Given the description of an element on the screen output the (x, y) to click on. 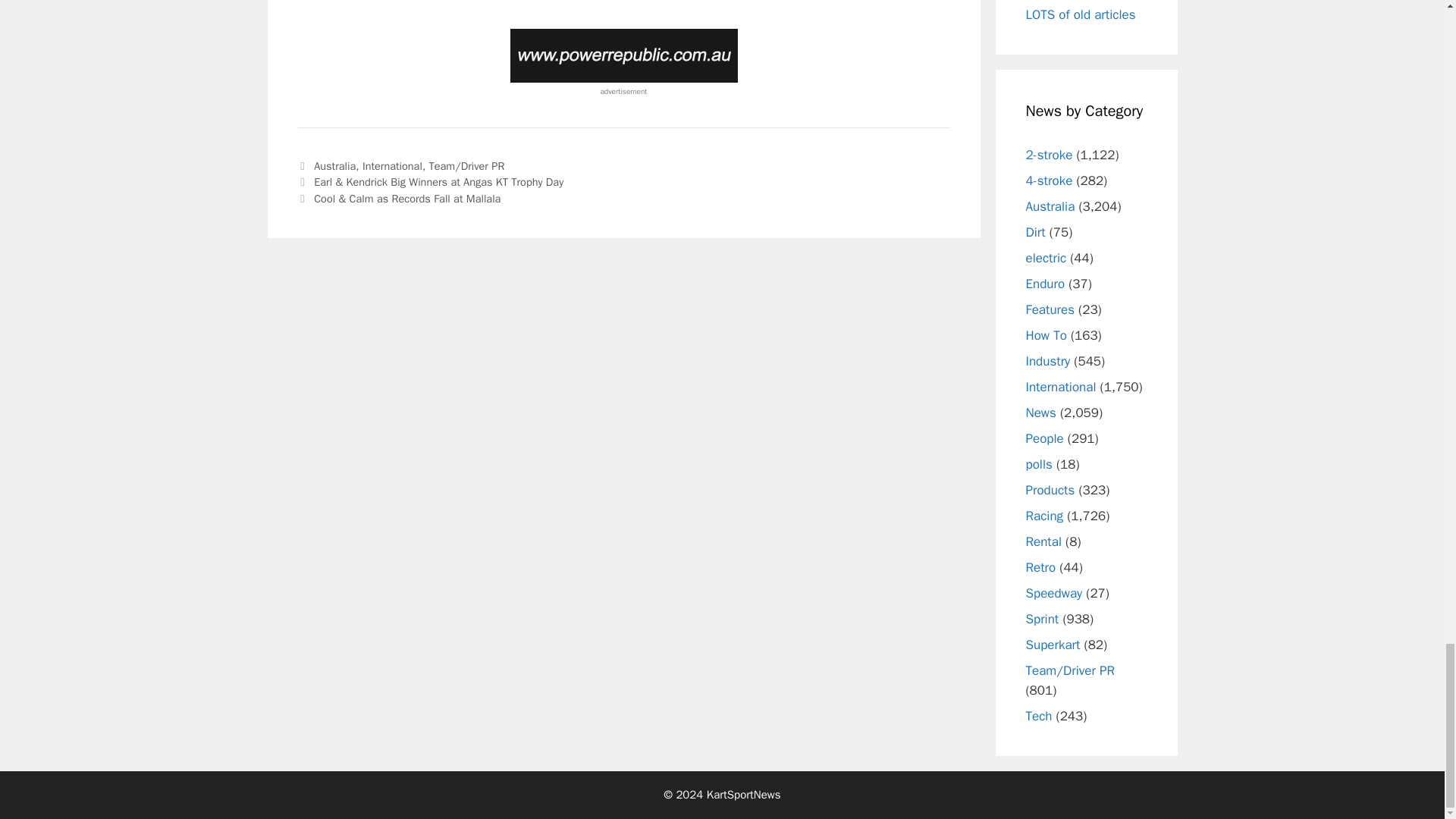
Australia (334, 165)
International (392, 165)
